Given the description of an element on the screen output the (x, y) to click on. 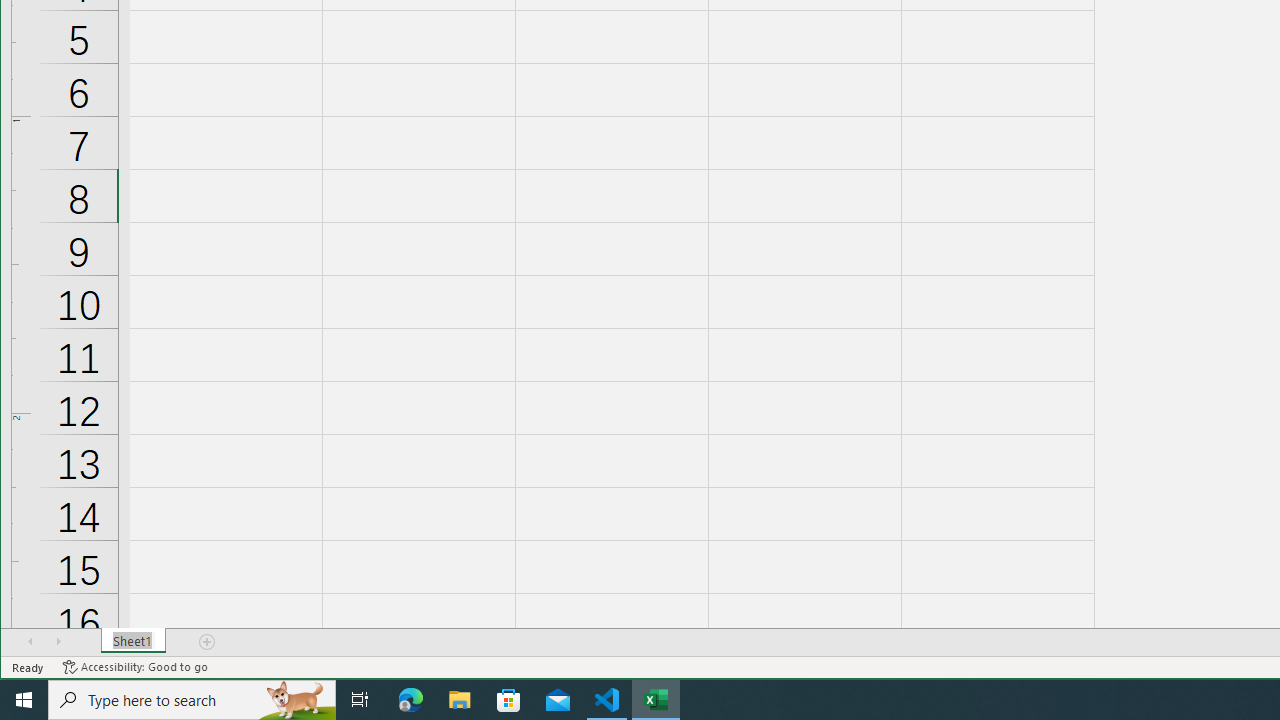
Excel - 1 running window (656, 699)
Microsoft Store (509, 699)
Search highlights icon opens search home window (295, 699)
Start (24, 699)
Visual Studio Code - 1 running window (607, 699)
Task View (359, 699)
Microsoft Edge (411, 699)
Sheet Tab (133, 641)
Type here to search (191, 699)
File Explorer (460, 699)
